Given the description of an element on the screen output the (x, y) to click on. 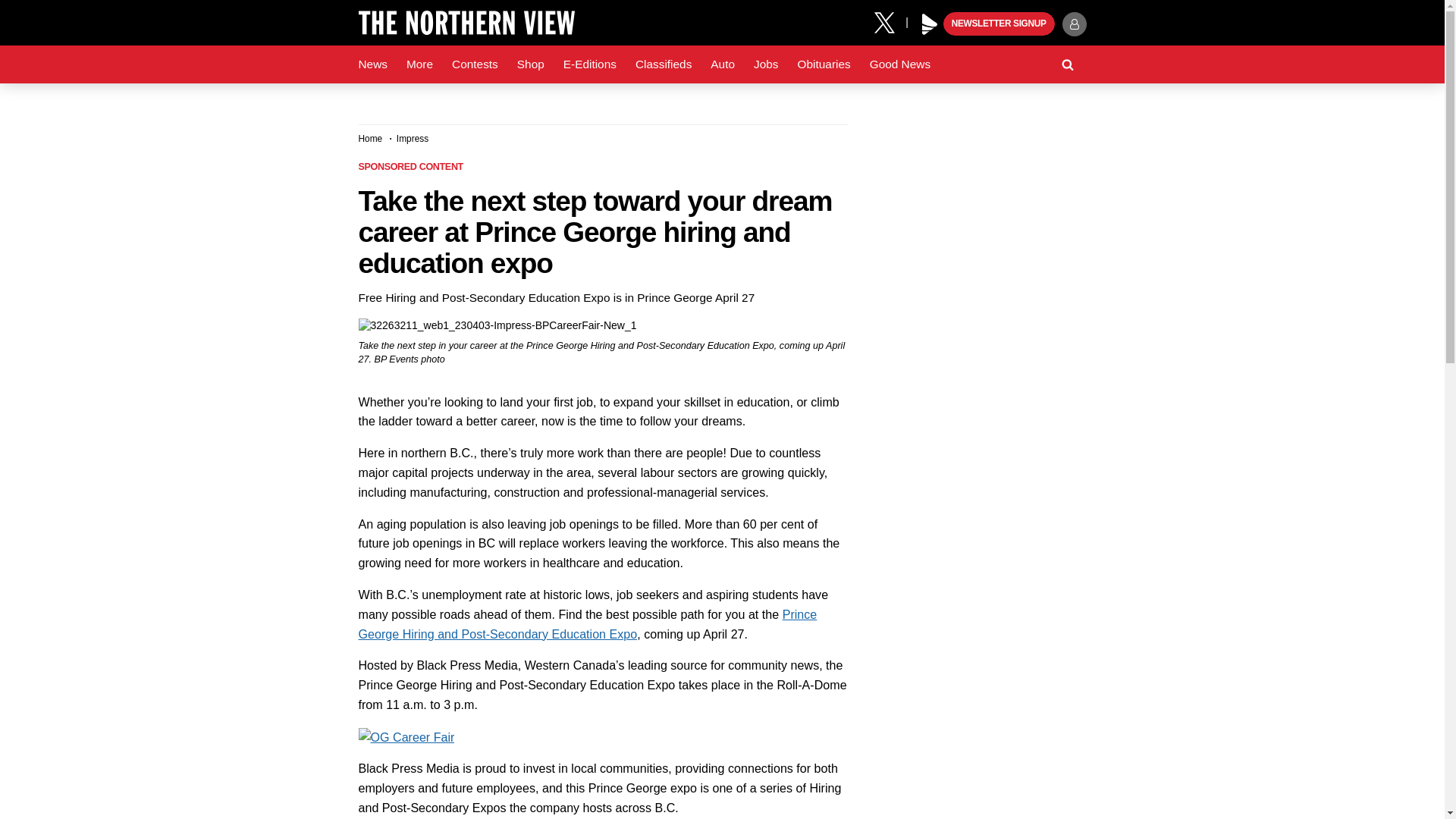
Black Press Media (929, 24)
NEWSLETTER SIGNUP (998, 24)
Play (929, 24)
News (372, 64)
X (889, 21)
